Given the description of an element on the screen output the (x, y) to click on. 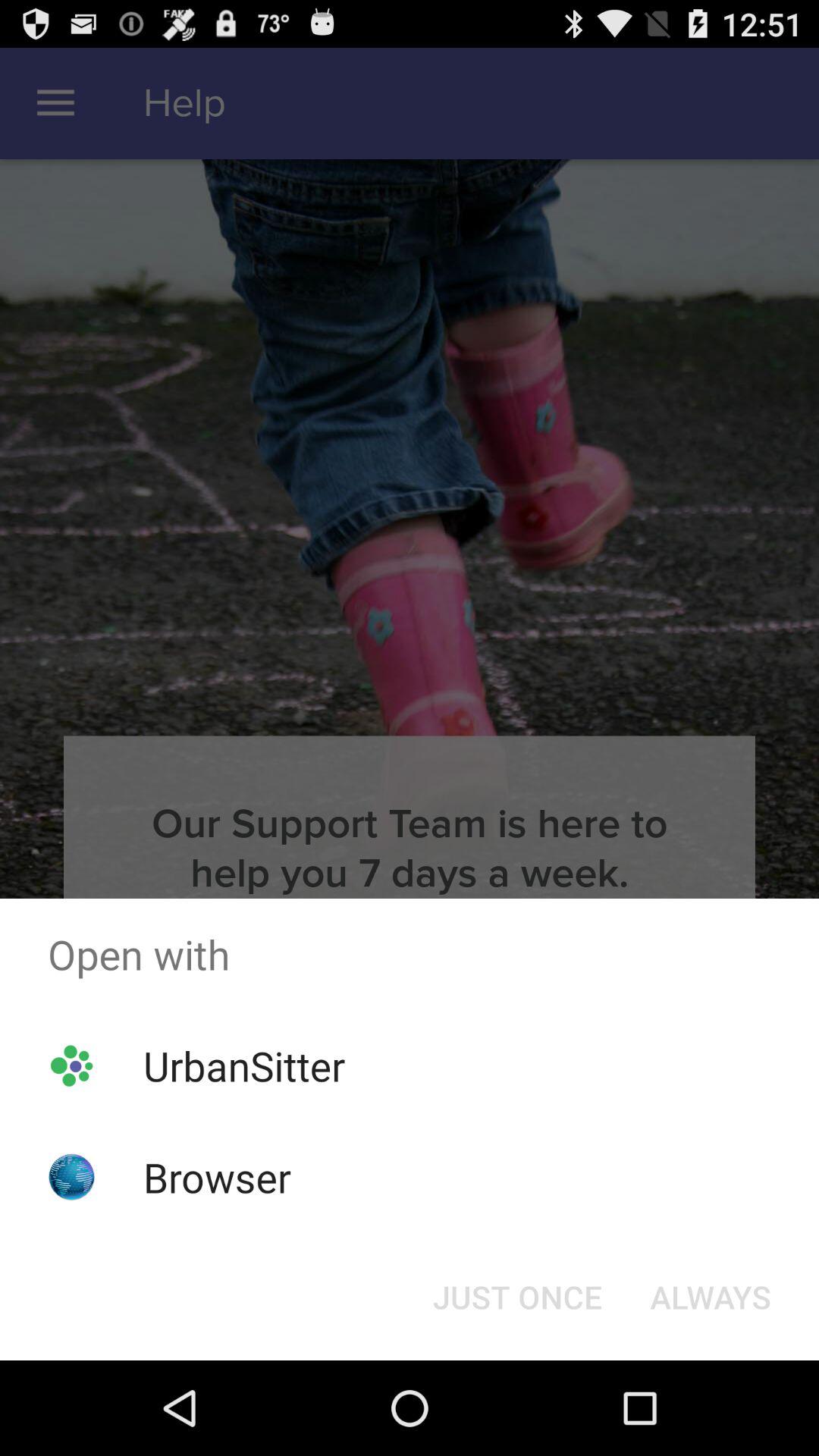
scroll to browser icon (217, 1176)
